Given the description of an element on the screen output the (x, y) to click on. 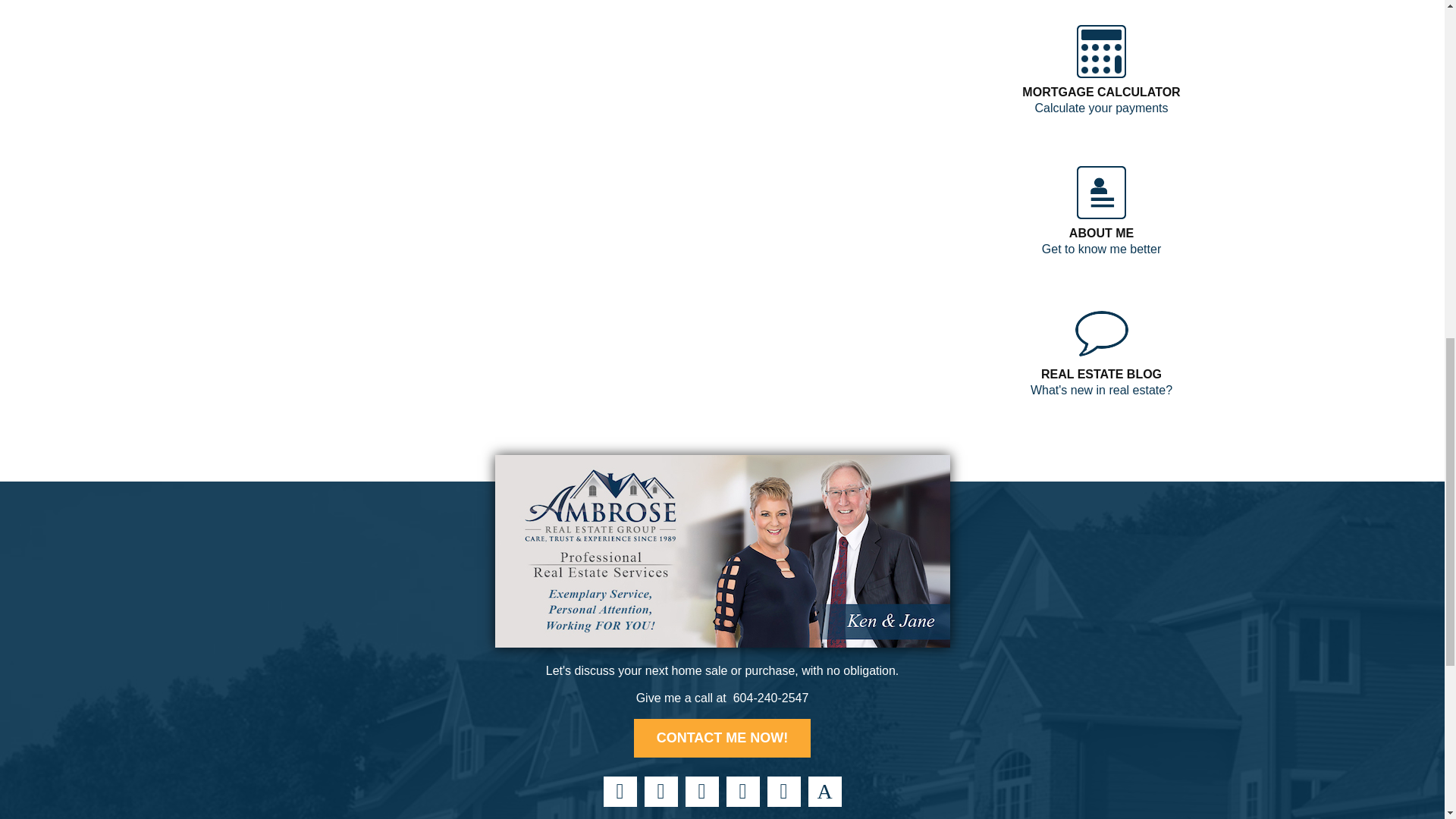
Calculate your payments (1100, 107)
